Given the description of an element on the screen output the (x, y) to click on. 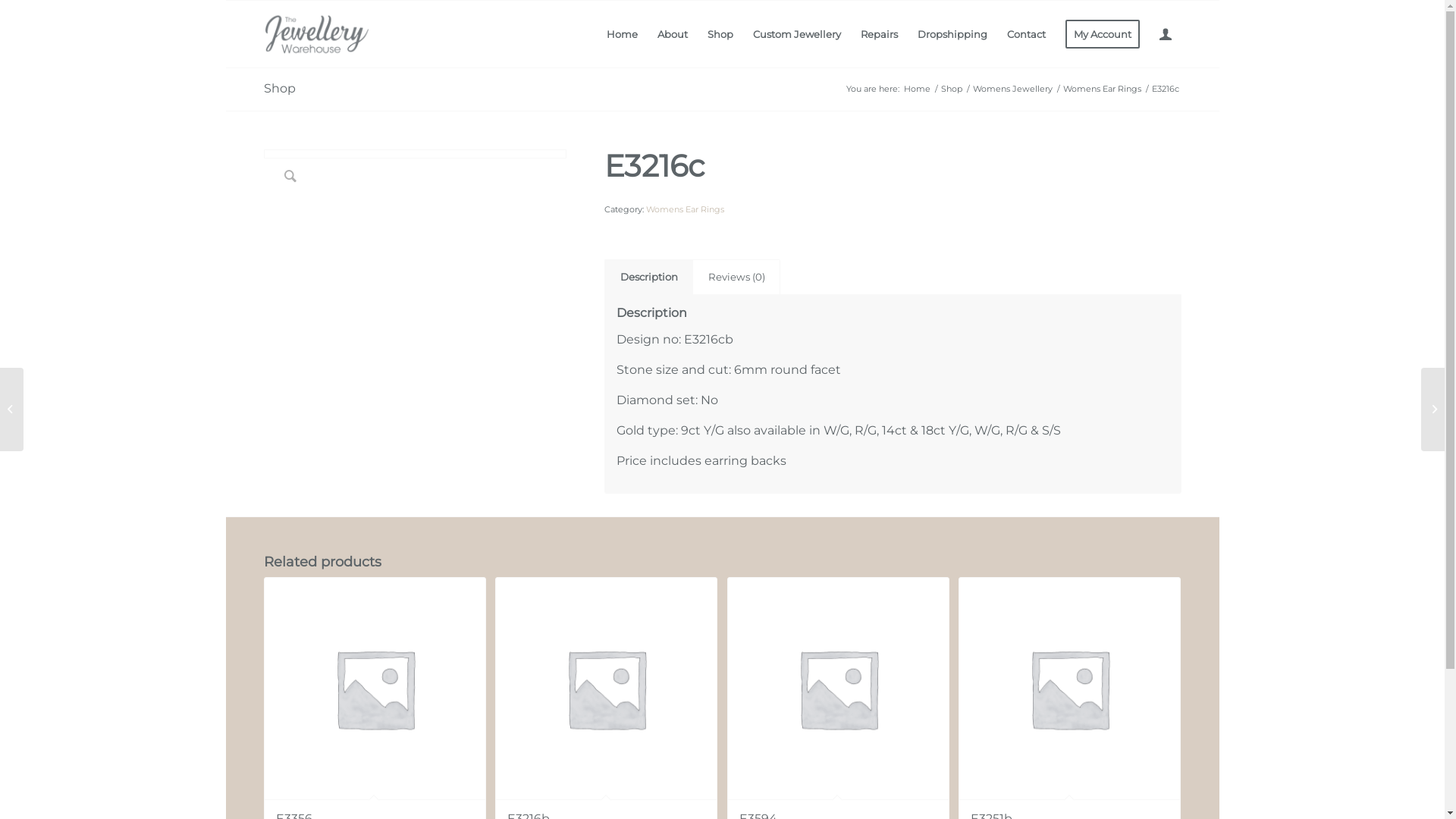
Shop Element type: text (951, 88)
Womens Ear Rings Element type: text (1101, 88)
Repairs Element type: text (878, 33)
About Element type: text (672, 33)
Home Element type: text (915, 88)
Dropshipping Element type: text (951, 33)
Womens Jewellery Element type: text (1012, 88)
Home Element type: text (621, 33)
Shop Element type: text (720, 33)
Login / Register Element type: hover (1165, 33)
Shop Element type: text (279, 88)
My Account Element type: text (1102, 33)
Womens Ear Rings Element type: text (685, 208)
Contact Element type: text (1025, 33)
Description Element type: text (648, 276)
Custom Jewellery Element type: text (796, 33)
Reviews (0) Element type: text (736, 276)
